Given the description of an element on the screen output the (x, y) to click on. 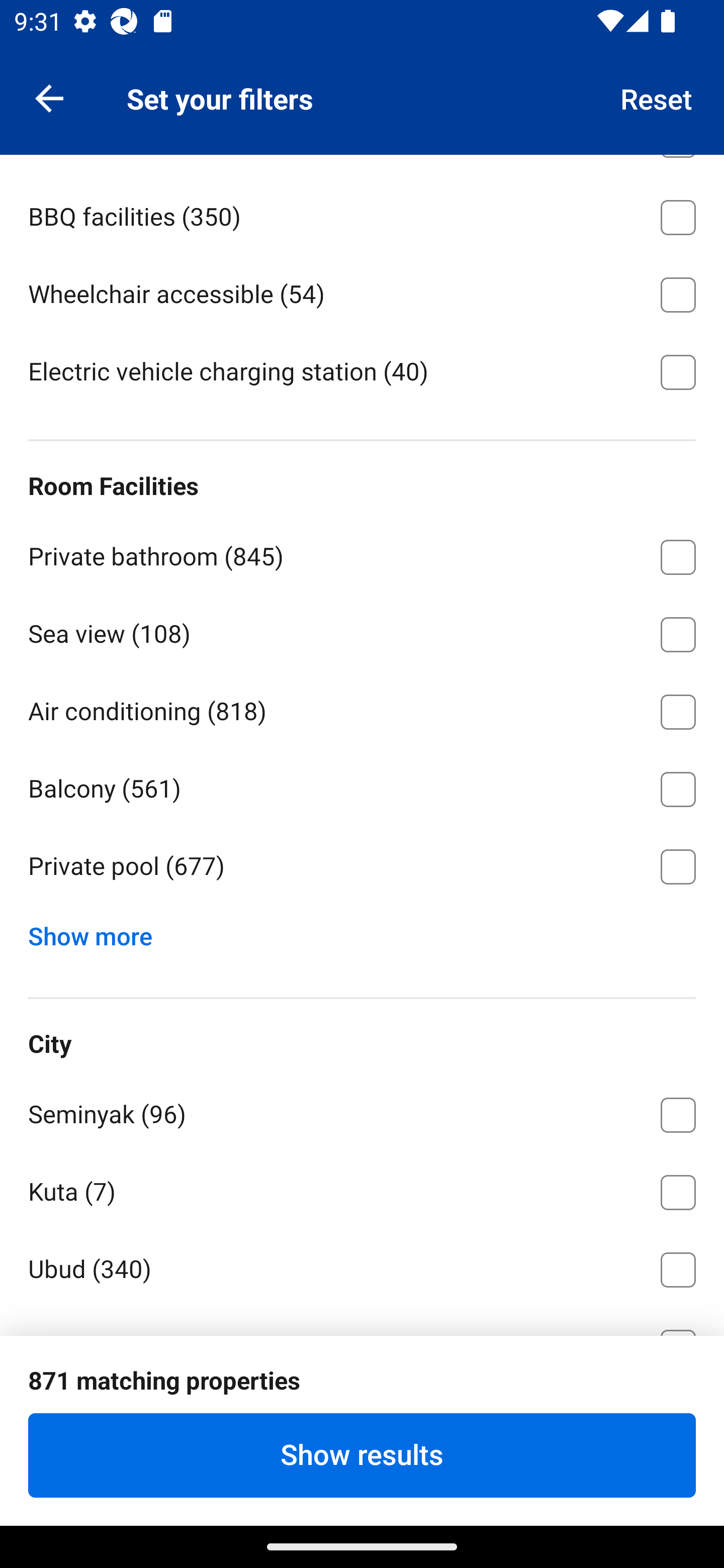
Navigate up (49, 97)
Reset (656, 97)
BBQ facilities ⁦(350) (361, 213)
Wheelchair accessible ⁦(54) (361, 291)
Electric vehicle charging station ⁦(40) (361, 370)
Private bathroom ⁦(845) (361, 553)
Sea view ⁦(108) (361, 630)
Air conditioning ⁦(818) (361, 708)
Balcony ⁦(561) (361, 785)
Private pool ⁦(677) (361, 866)
Show more (97, 932)
Seminyak ⁦(96) (361, 1111)
Kuta ⁦(7) (361, 1188)
Ubud ⁦(340) (361, 1265)
Show results (361, 1454)
